Given the description of an element on the screen output the (x, y) to click on. 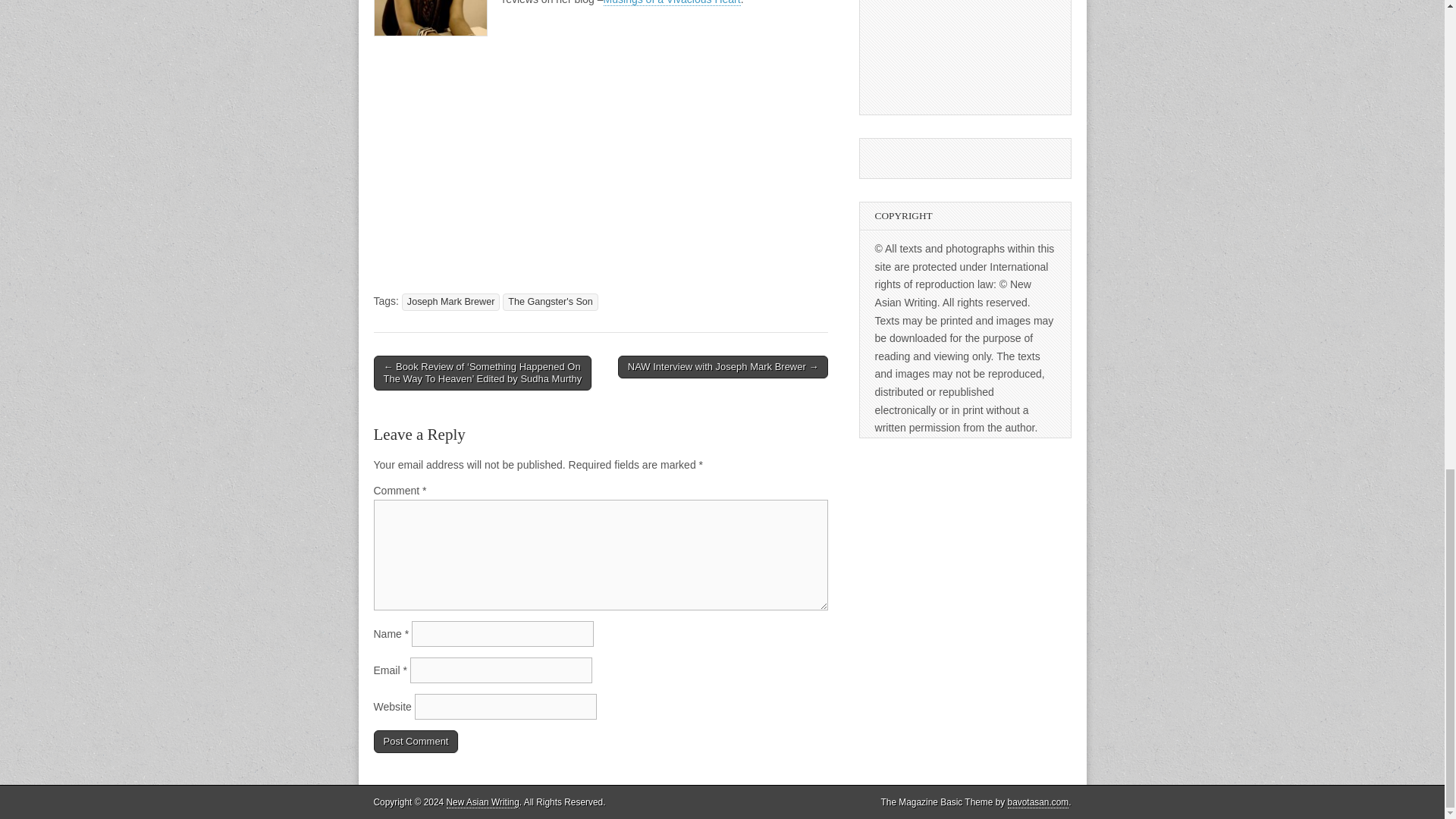
The Gangster's Son (550, 302)
New Asian Writing (482, 802)
bavotasan.com (1037, 802)
Post Comment (415, 741)
Post Comment (415, 741)
Musings of a Vivacious Heart (672, 2)
Joseph Mark Brewer (450, 302)
